Given the description of an element on the screen output the (x, y) to click on. 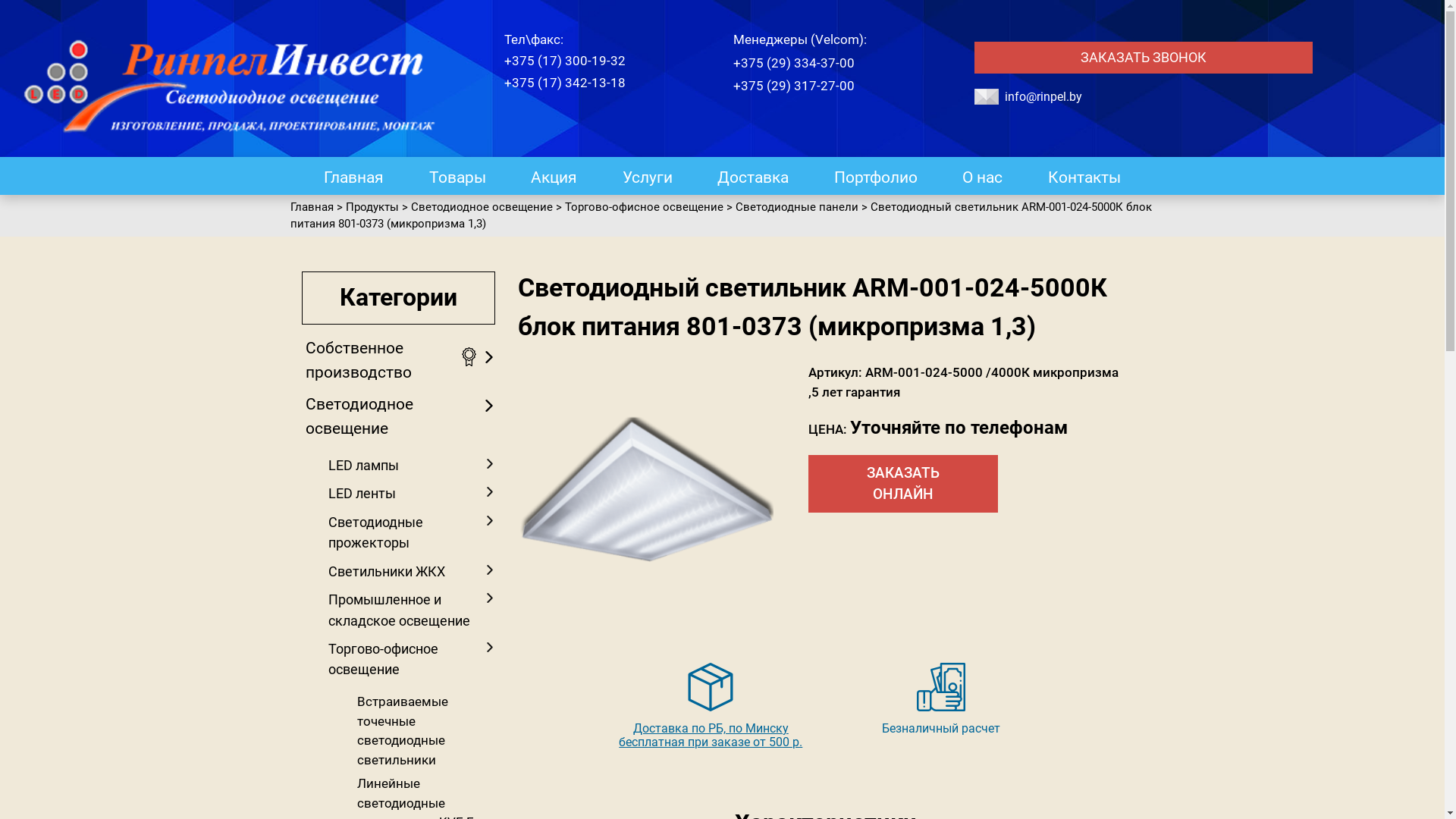
+375 (29) 317-27-00 Element type: text (793, 84)
info@rinpel.by Element type: text (1043, 96)
+375 (17) 342-13-18 Element type: text (564, 82)
+375 (17) 300-19-32 Element type: text (564, 60)
+375 (29) 334-37-00 Element type: text (793, 61)
